Given the description of an element on the screen output the (x, y) to click on. 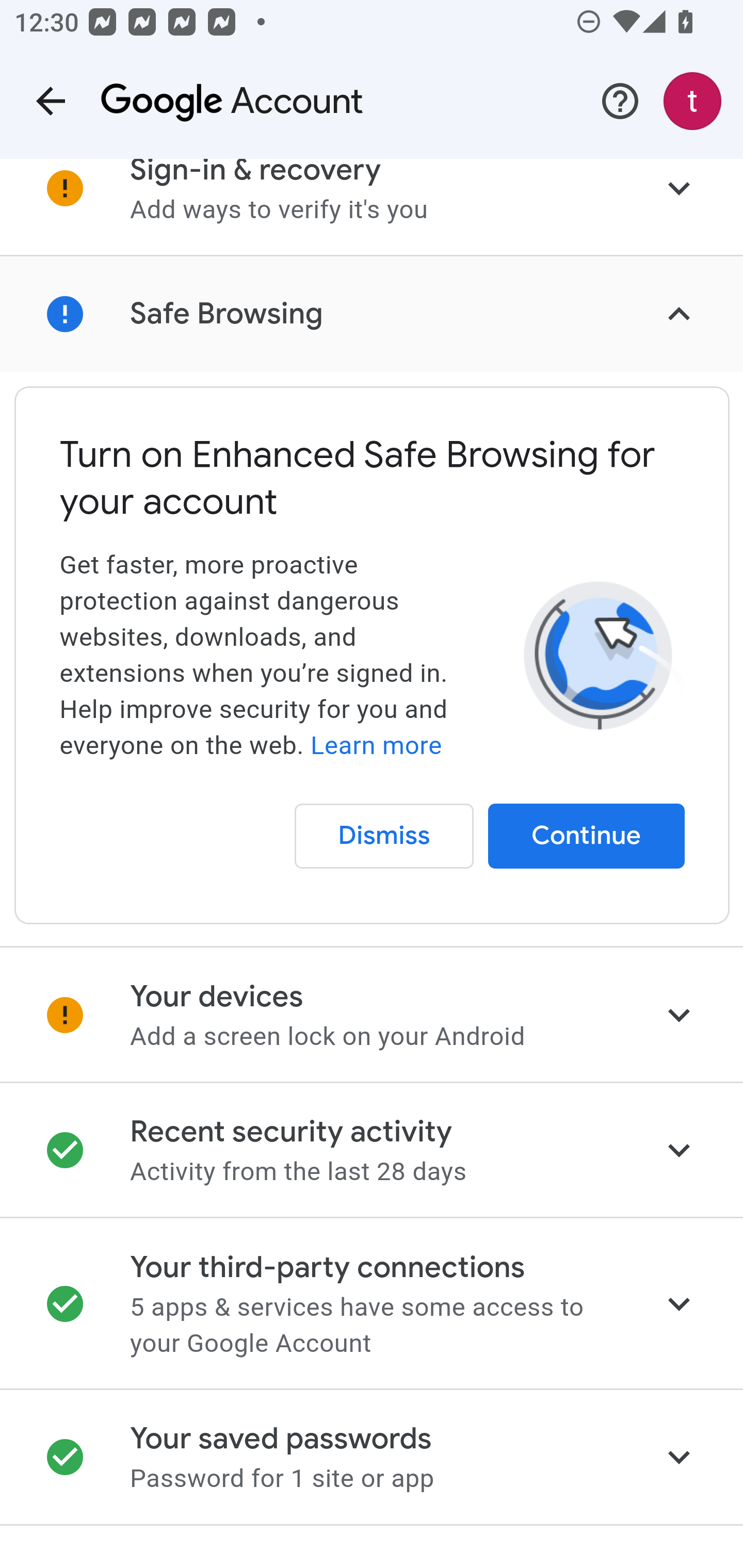
Navigate up (50, 101)
Help & feedback (619, 101)
Safe Browsing (371, 314)
Learn more (376, 745)
Dismiss (384, 835)
Continue (586, 835)
Your saved passwords Password for 1 site or app (371, 1457)
